Given the description of an element on the screen output the (x, y) to click on. 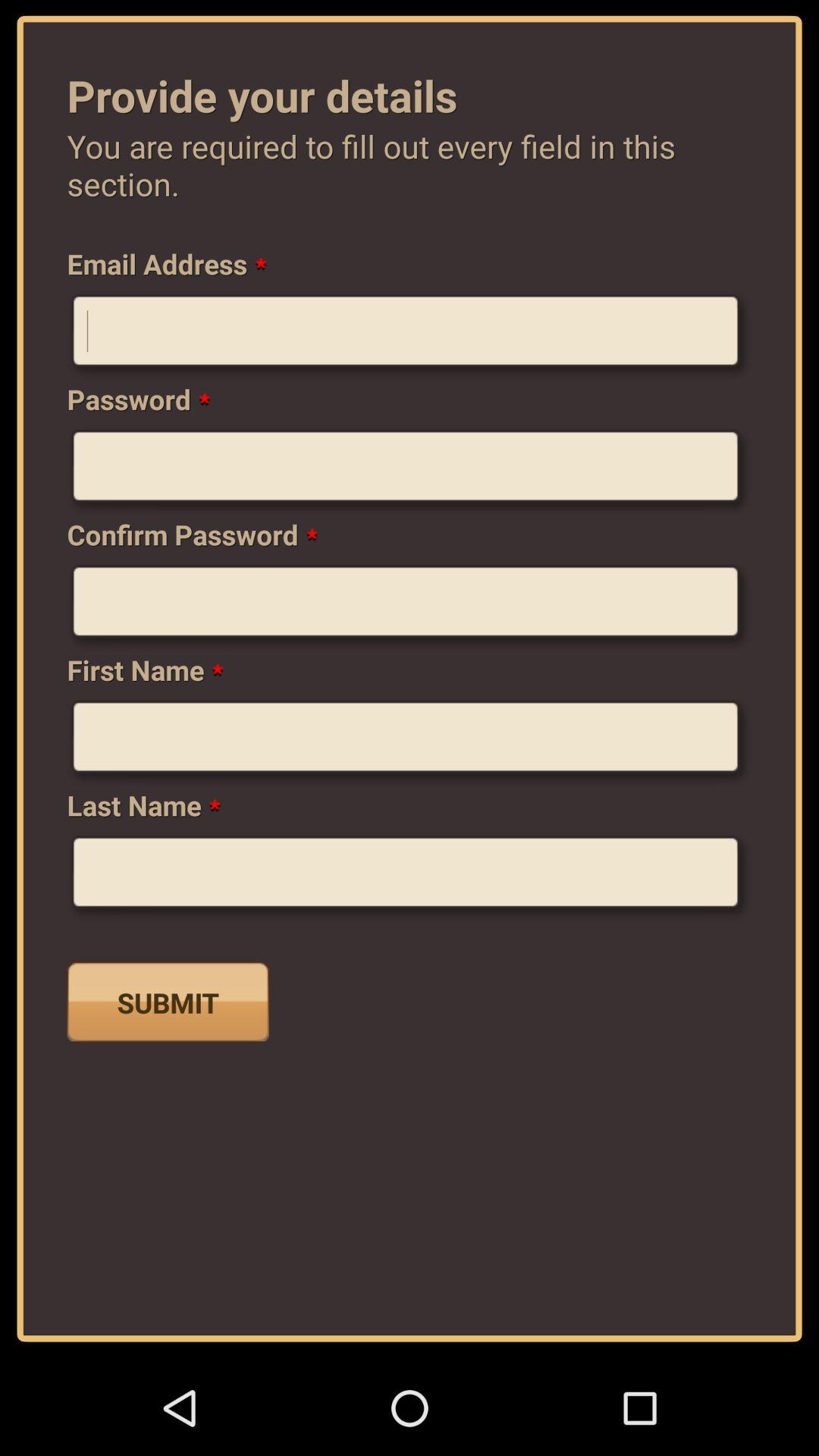
jump until submit item (168, 1001)
